Given the description of an element on the screen output the (x, y) to click on. 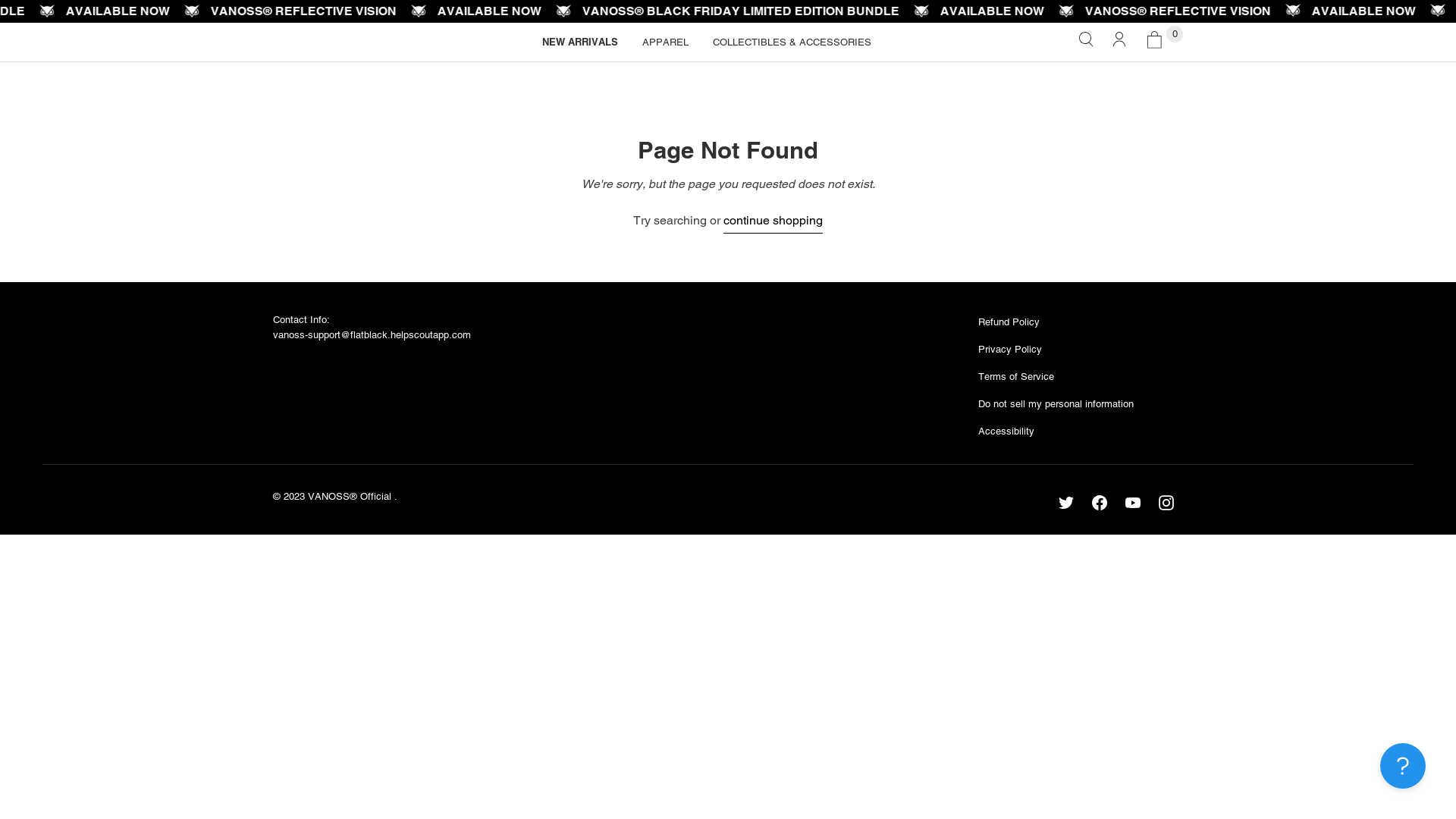
APPAREL Element type: text (665, 42)
Accessibility Element type: text (1006, 430)
continue shopping Element type: text (772, 222)
Terms of Service Element type: text (1016, 376)
COLLECTIBLES & ACCESSORIES Element type: text (791, 42)
NEW ARRIVALS Element type: text (580, 42)
Do not sell my personal information Element type: text (1055, 403)
Privacy Policy Element type: text (1009, 348)
Refund Policy Element type: text (1008, 321)
0 Element type: text (1159, 41)
